Given the description of an element on the screen output the (x, y) to click on. 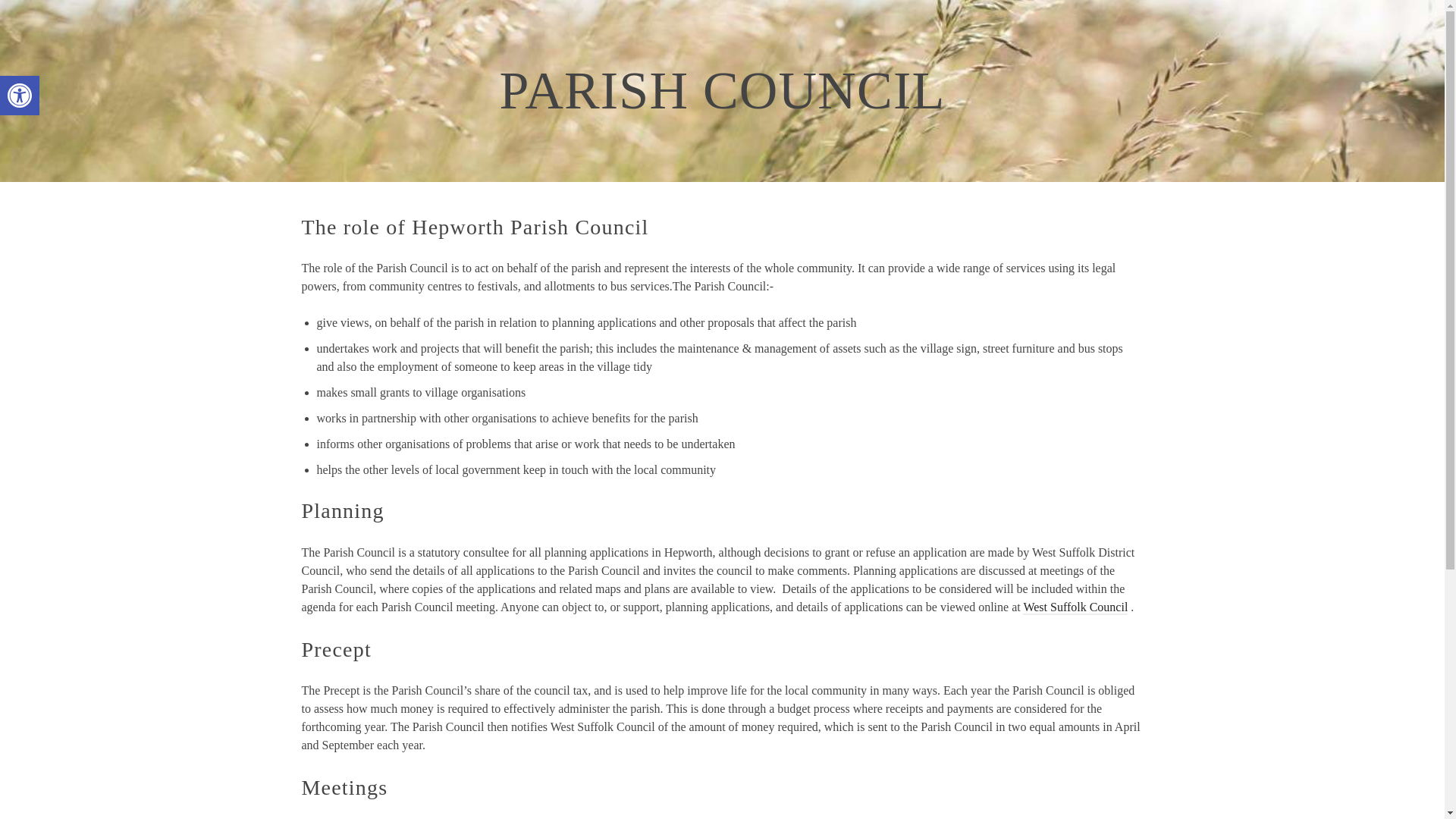
Accessibility Tools (19, 95)
VILLAGE HISTORY (19, 95)
EVENTS (562, 37)
Accessibility Tools (652, 37)
PARISH COUNCIL (19, 95)
